Given the description of an element on the screen output the (x, y) to click on. 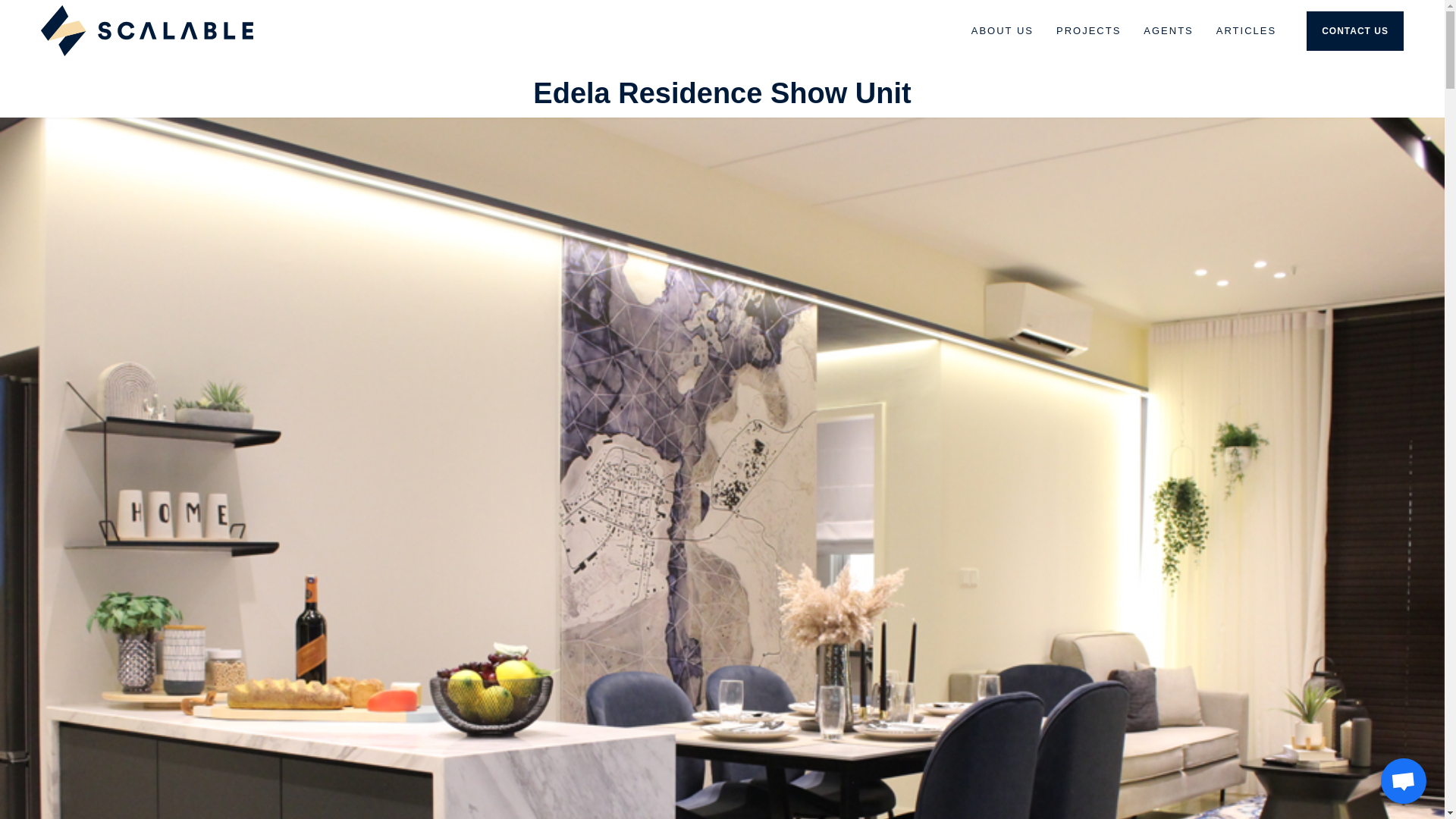
PROJECTS (1088, 30)
ARTICLES (1246, 30)
ABOUT US (1002, 30)
CONTACT US (1354, 29)
AGENTS (1168, 30)
